Given the description of an element on the screen output the (x, y) to click on. 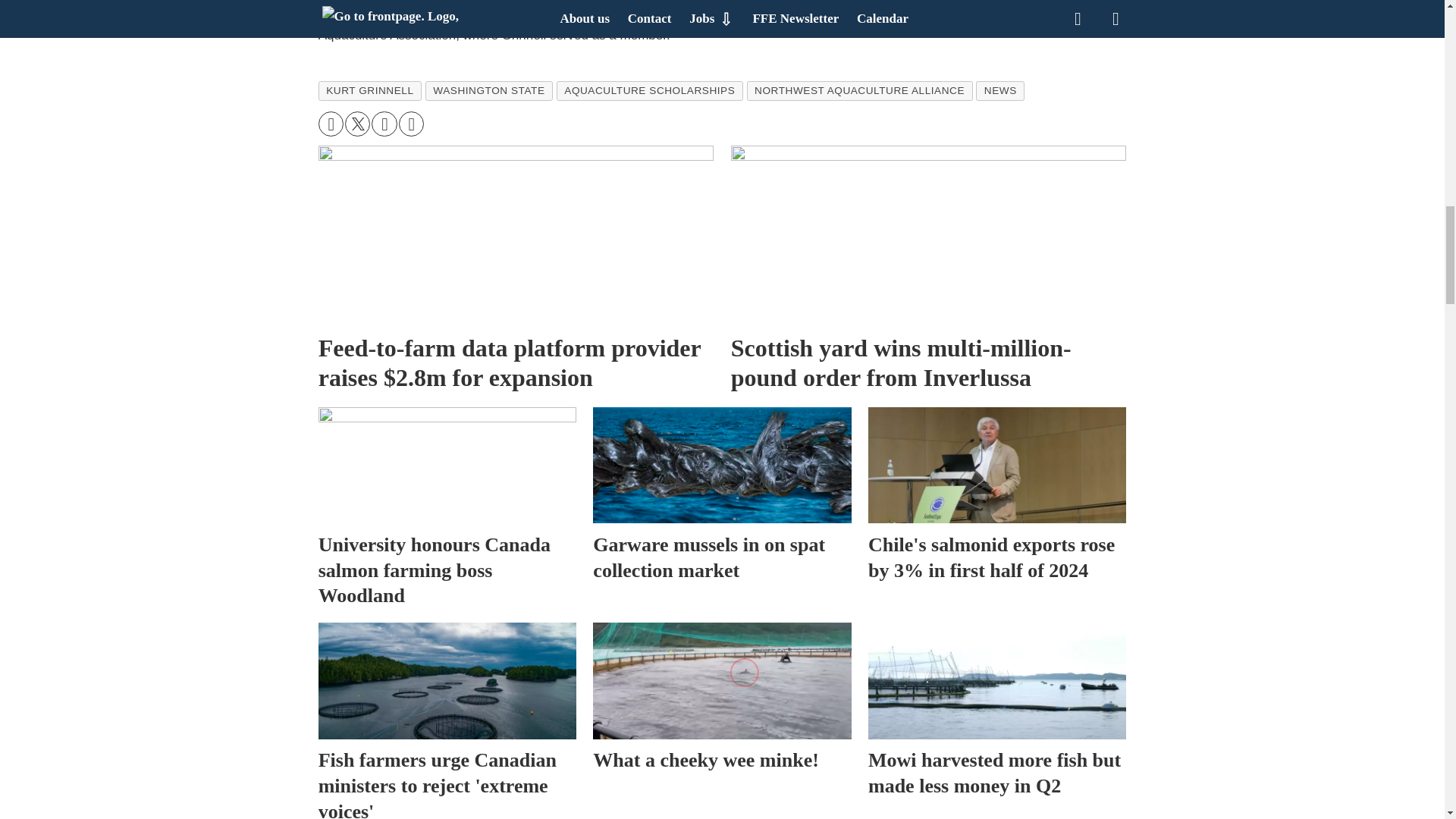
University honours Canada salmon farming boss Woodland (447, 465)
WASHINGTON STATE (489, 90)
Mowi harvested more fish but made less money in Q2 (996, 680)
KURT GRINNELL (370, 90)
What a cheeky wee minke! (721, 680)
AQUACULTURE SCHOLARSHIPS (649, 90)
NORTHWEST AQUACULTURE ALLIANCE (859, 90)
Scottish yard wins multi-million-pound order from Inverlussa (928, 234)
NEWS (1000, 90)
Garware mussels in on spat collection market (721, 465)
